Given the description of an element on the screen output the (x, y) to click on. 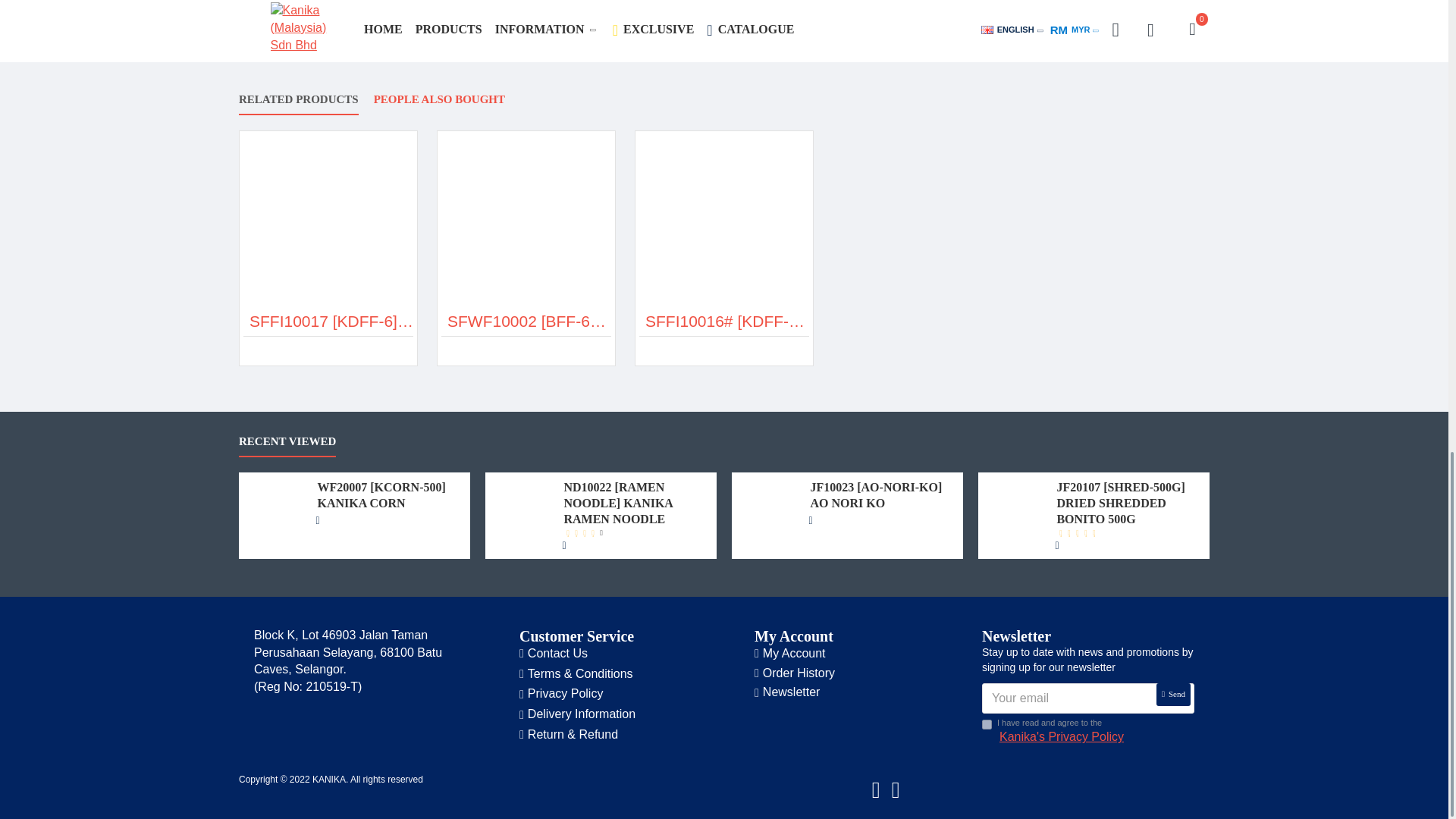
1 (986, 724)
